Given the description of an element on the screen output the (x, y) to click on. 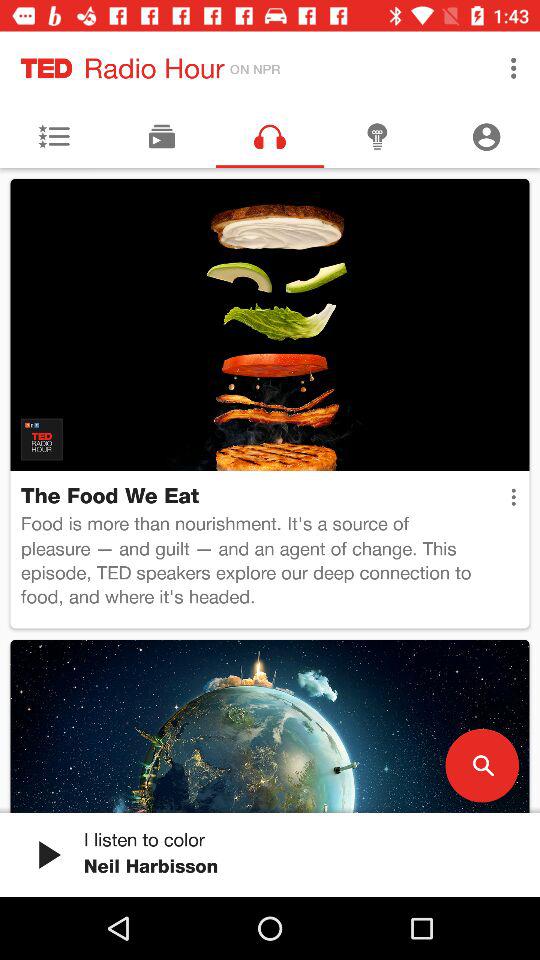
turn on icon at the bottom right corner (482, 765)
